Given the description of an element on the screen output the (x, y) to click on. 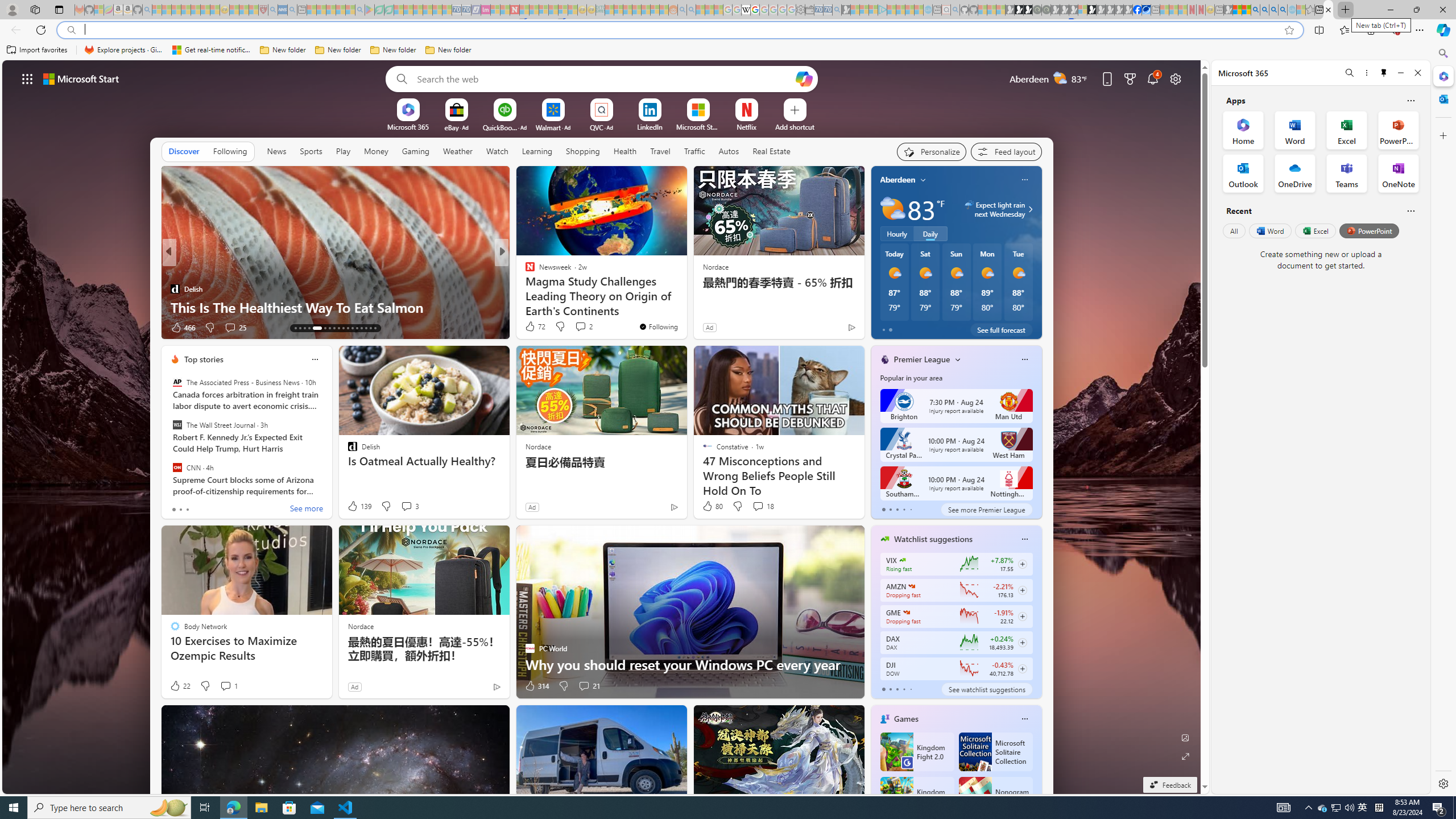
Watchlist suggestions (932, 538)
Autos (729, 151)
Excel Office App (1346, 129)
2009 Bing officially replaced Live Search on June 3 - Search (1264, 9)
Class: control (27, 78)
Following (229, 151)
AutomationID: tab-21 (338, 328)
View comments 5 Comment (580, 327)
Close Outlook pane (1442, 98)
Close Microsoft 365 pane (1442, 76)
